Given the description of an element on the screen output the (x, y) to click on. 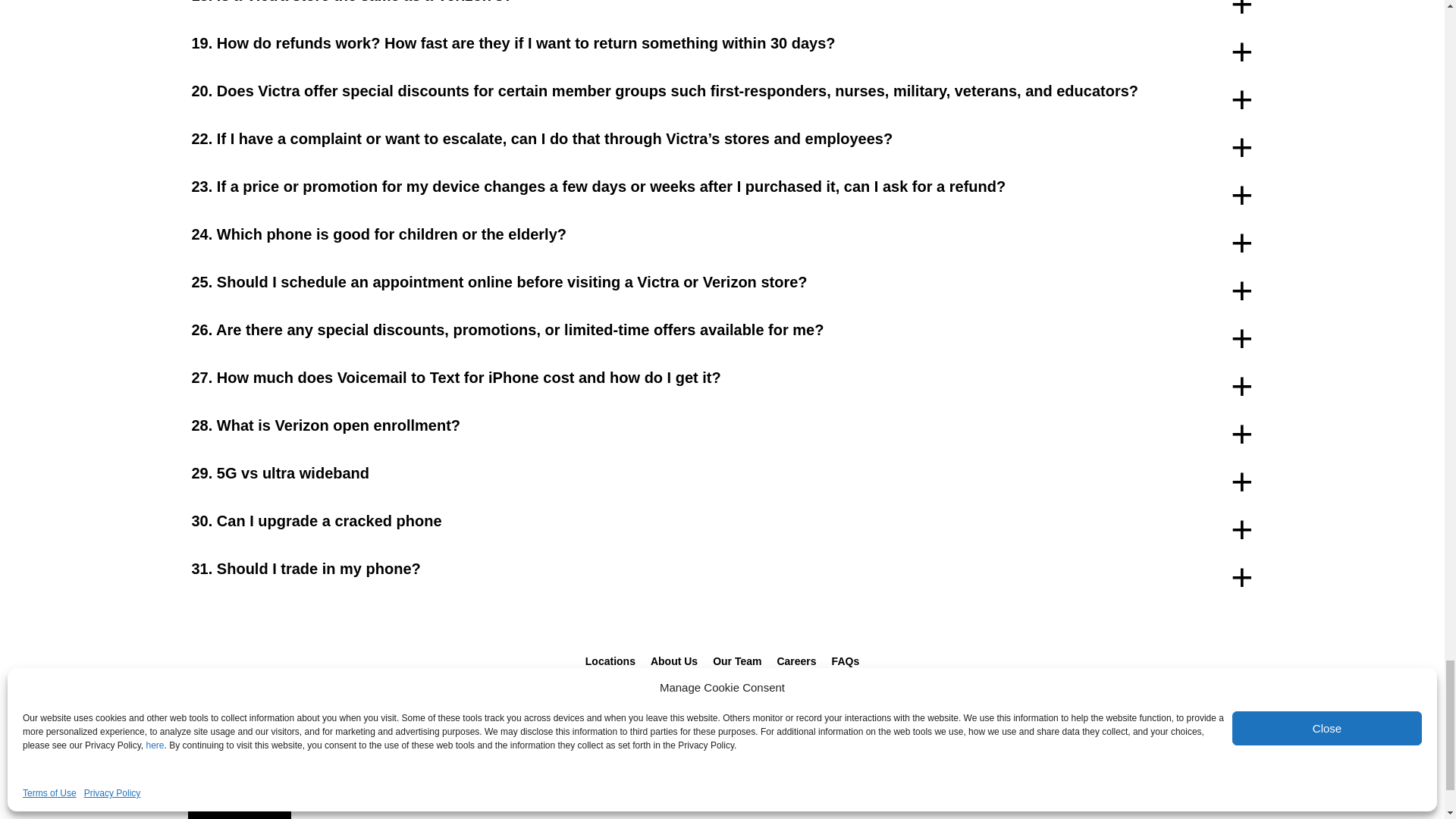
Linkedin (751, 769)
Facebook (691, 769)
Instagram (721, 769)
